Given the description of an element on the screen output the (x, y) to click on. 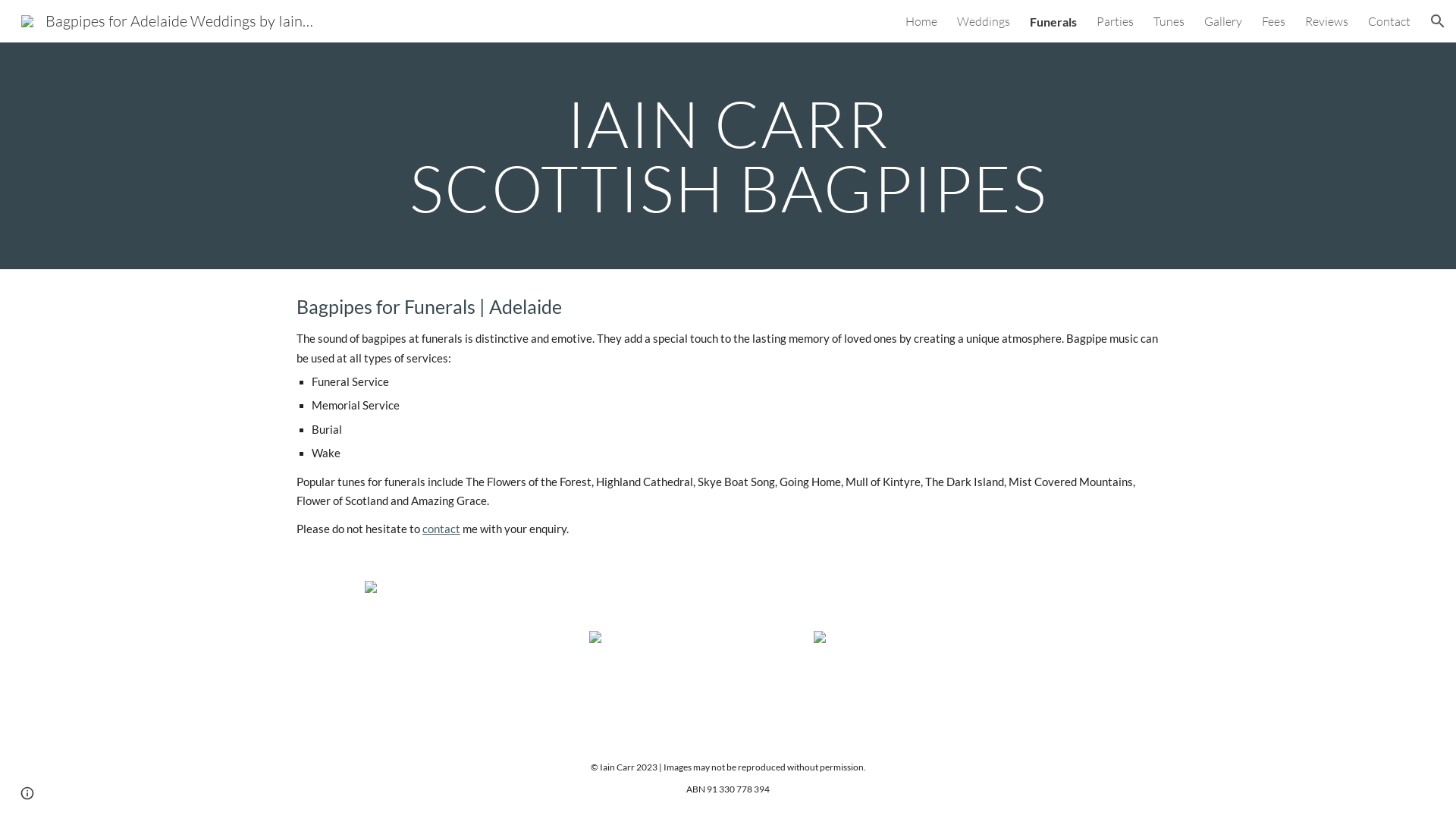
Home Element type: text (921, 20)
Fees Element type: text (1273, 20)
Contact Element type: text (1389, 20)
contact Element type: text (441, 528)
Gallery Element type: text (1223, 20)
Weddings Element type: text (983, 20)
Tunes Element type: text (1168, 20)
Reviews Element type: text (1326, 20)
Parties Element type: text (1114, 20)
Funerals Element type: text (1052, 20)
